Given the description of an element on the screen output the (x, y) to click on. 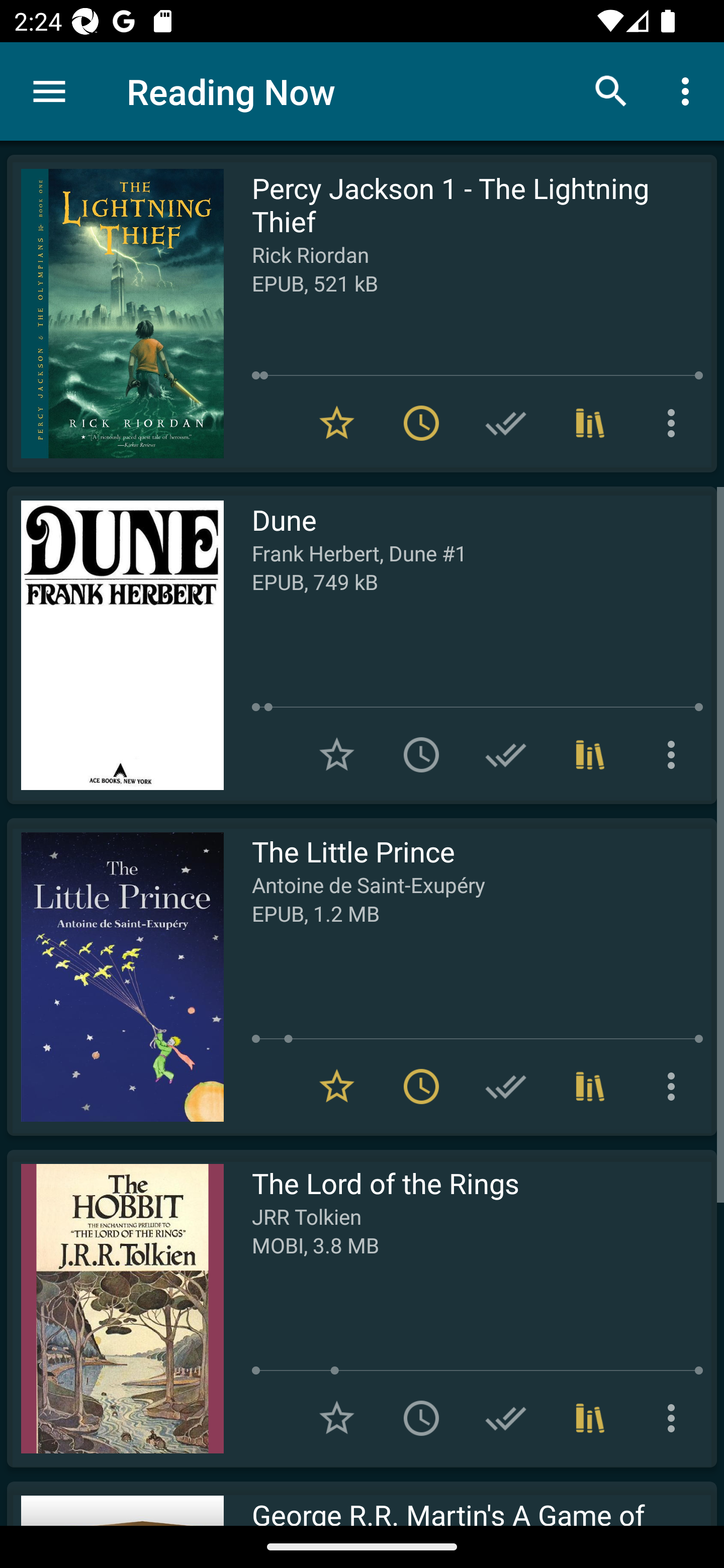
Menu (49, 91)
Search books & documents (611, 90)
More options (688, 90)
Read Percy Jackson 1 - The Lightning Thief (115, 313)
Remove from Favorites (336, 423)
Remove from To read (421, 423)
Add to Have read (505, 423)
Collections (1) (590, 423)
More options (674, 423)
Read Dune (115, 645)
Add to Favorites (336, 753)
Add to To read (421, 753)
Add to Have read (505, 753)
Collections (1) (590, 753)
More options (674, 753)
Read The Little Prince (115, 976)
Remove from Favorites (336, 1086)
Remove from To read (421, 1086)
Add to Have read (505, 1086)
Collections (1) (590, 1086)
More options (674, 1086)
Read The Lord of the Rings (115, 1308)
Add to Favorites (336, 1417)
Add to To read (421, 1417)
Add to Have read (505, 1417)
Collections (1) (590, 1417)
More options (674, 1417)
